Given the description of an element on the screen output the (x, y) to click on. 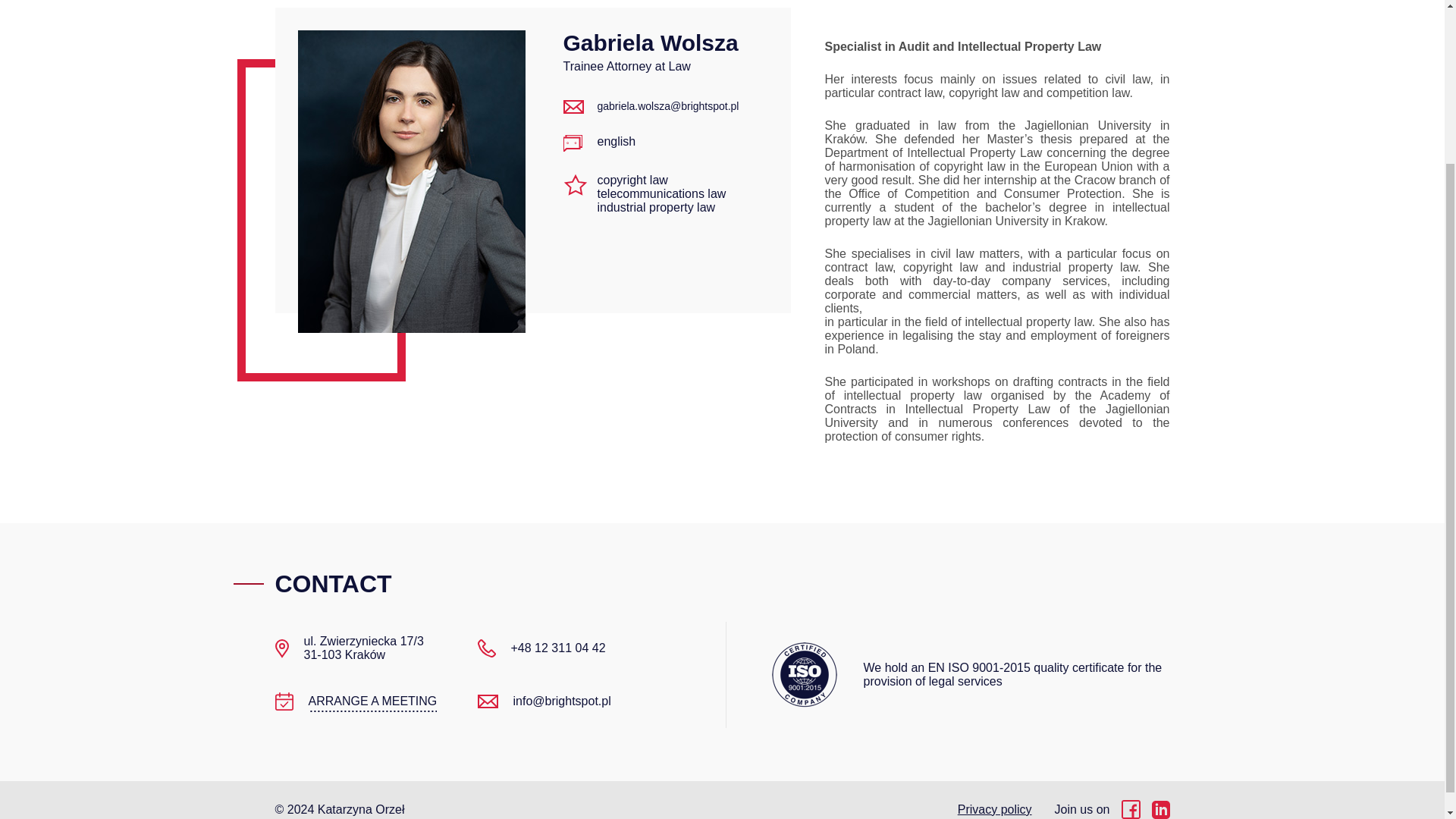
ARRANGE A MEETING (371, 700)
